Given the description of an element on the screen output the (x, y) to click on. 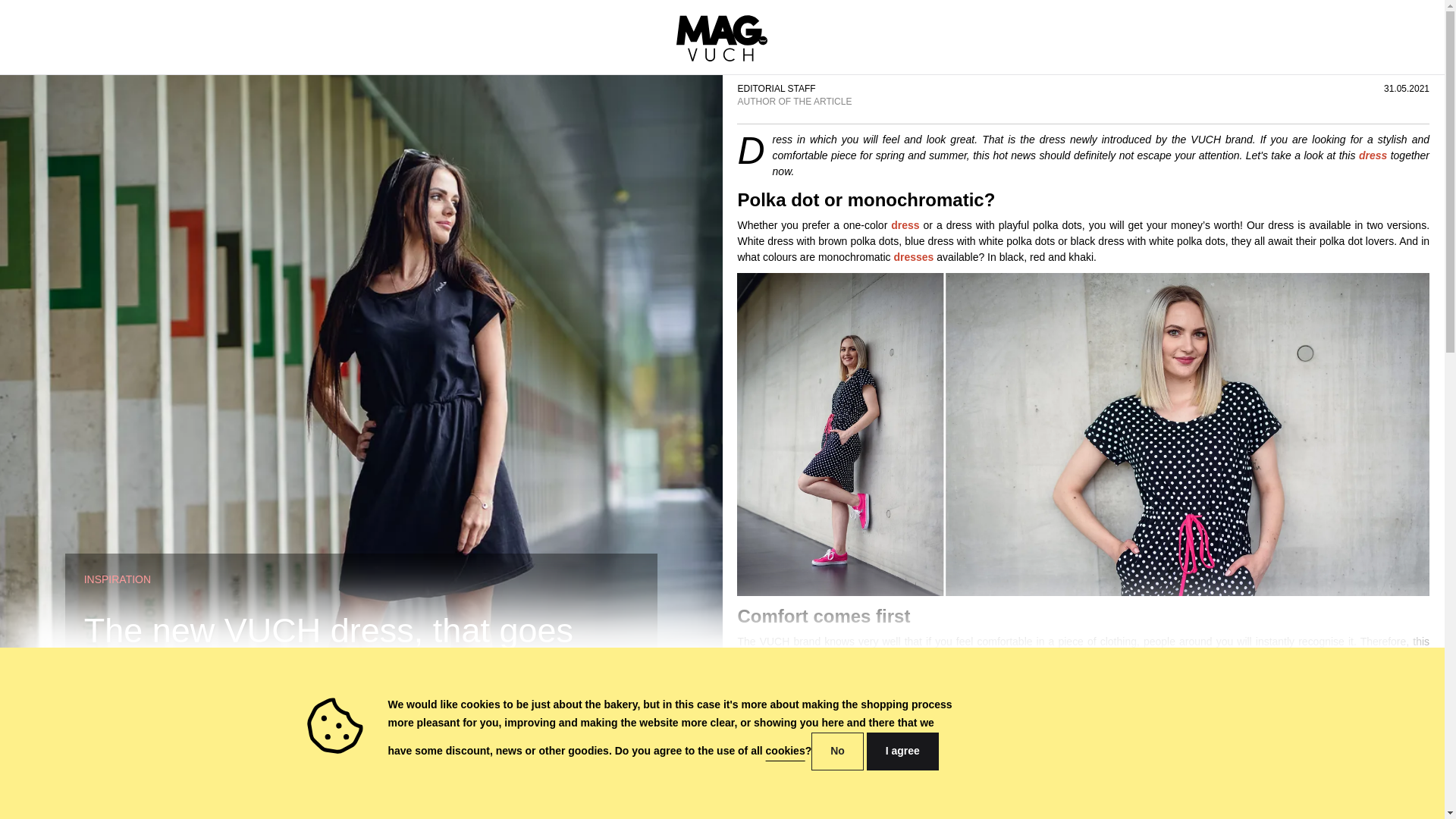
No (836, 751)
cookies (785, 750)
I agree (902, 751)
dress (1372, 155)
dress (904, 224)
INSPIRATION (117, 579)
dresses (913, 256)
